Given the description of an element on the screen output the (x, y) to click on. 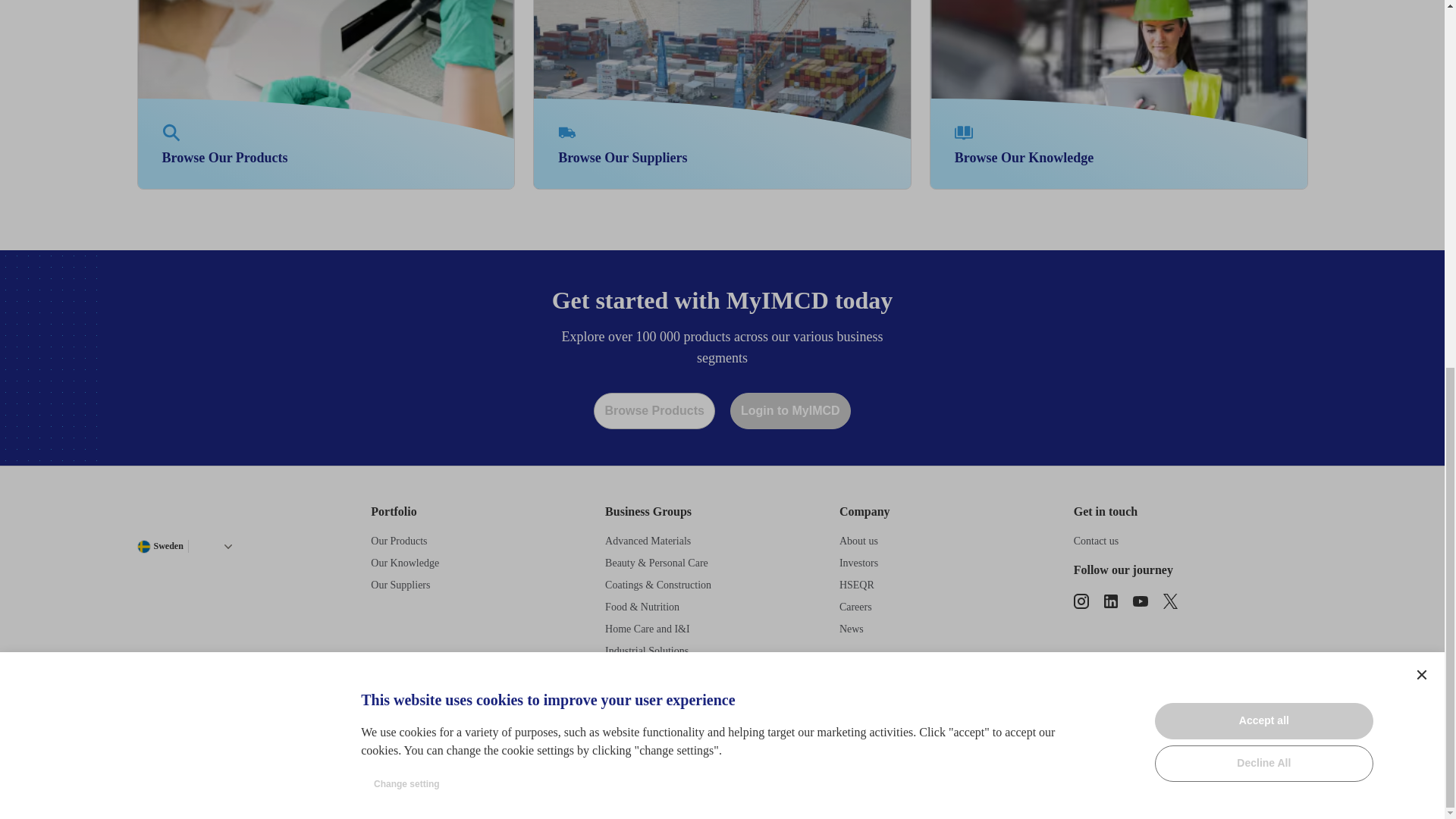
Change setting (406, 120)
Accept all (1118, 94)
Browse our Knowledge (1263, 58)
Open Dropdown (325, 94)
Browse our Suppliers (963, 132)
Login to MyIMCD (228, 545)
Settings (566, 132)
Browse Products (790, 411)
Browse our Product (721, 94)
Settings (1421, 13)
